Given the description of an element on the screen output the (x, y) to click on. 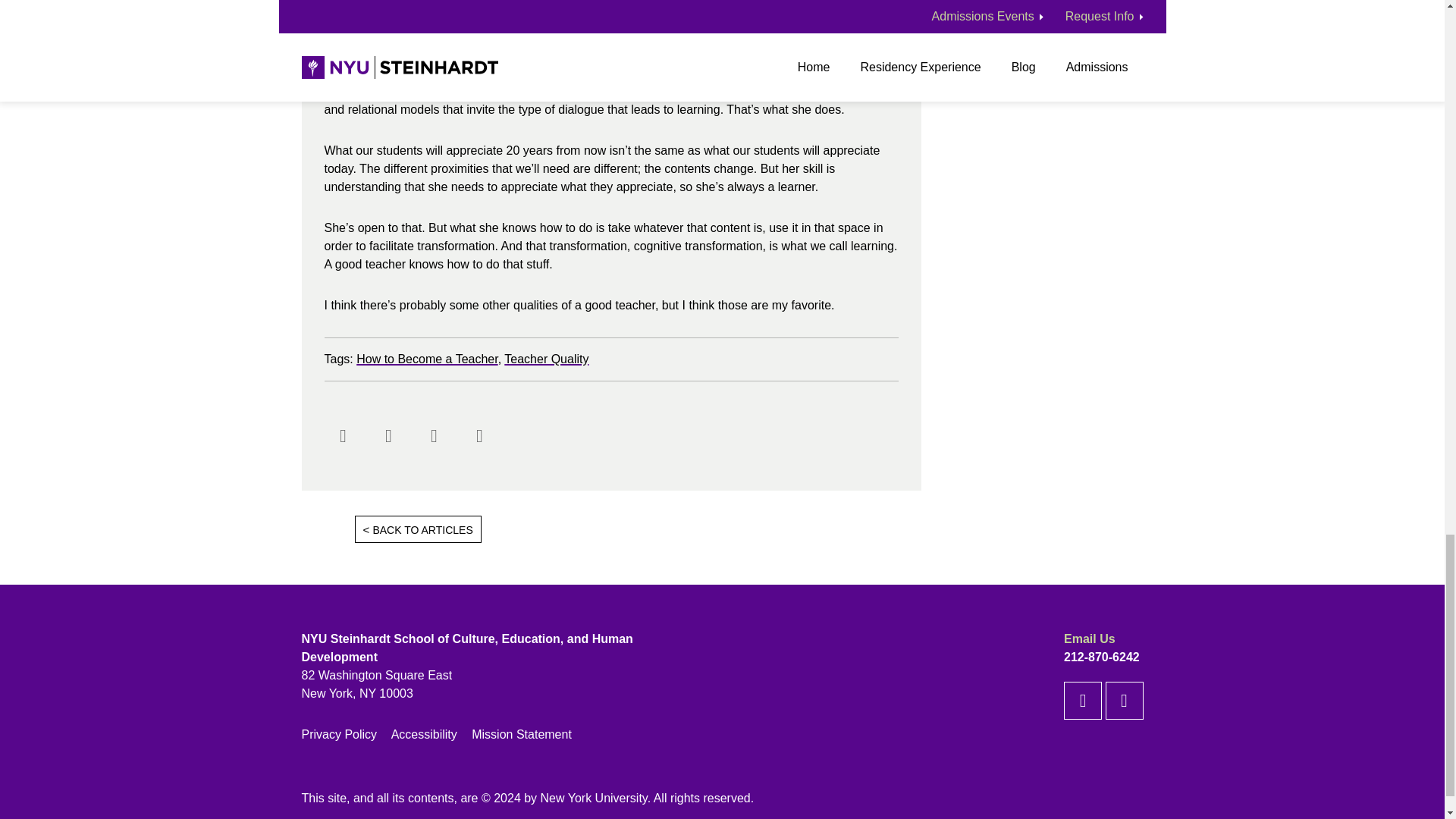
Link back to blog page (638, 529)
BACK TO ARTICLES (418, 528)
Follow us on Facebook (1083, 700)
Teacher Quality (545, 358)
Accessibility (424, 734)
Share on Facebook (343, 435)
How to Become a Teacher (426, 358)
Send us email (480, 435)
Mission Statement (521, 734)
Follow us on LinkedIn (1123, 700)
